Given the description of an element on the screen output the (x, y) to click on. 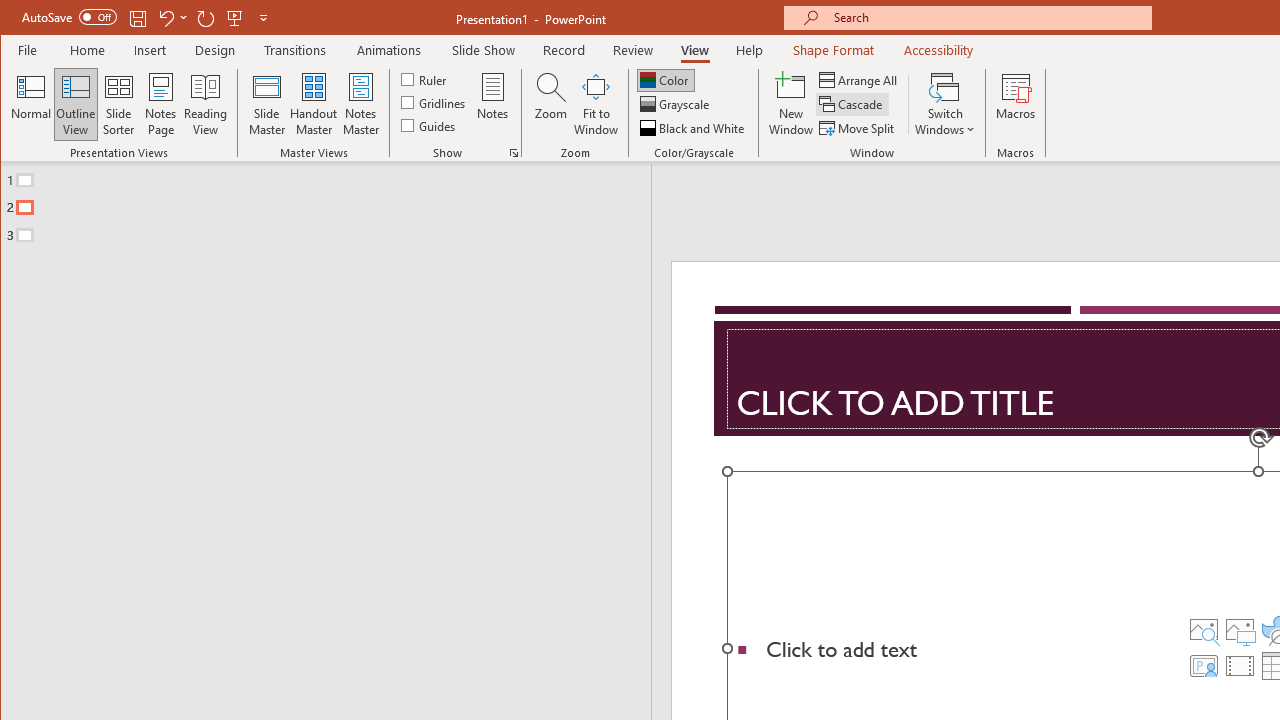
Zoom... (550, 104)
Cascade (852, 103)
Fit to Window (596, 104)
Insert Cameo (1203, 665)
Color (666, 80)
